Given the description of an element on the screen output the (x, y) to click on. 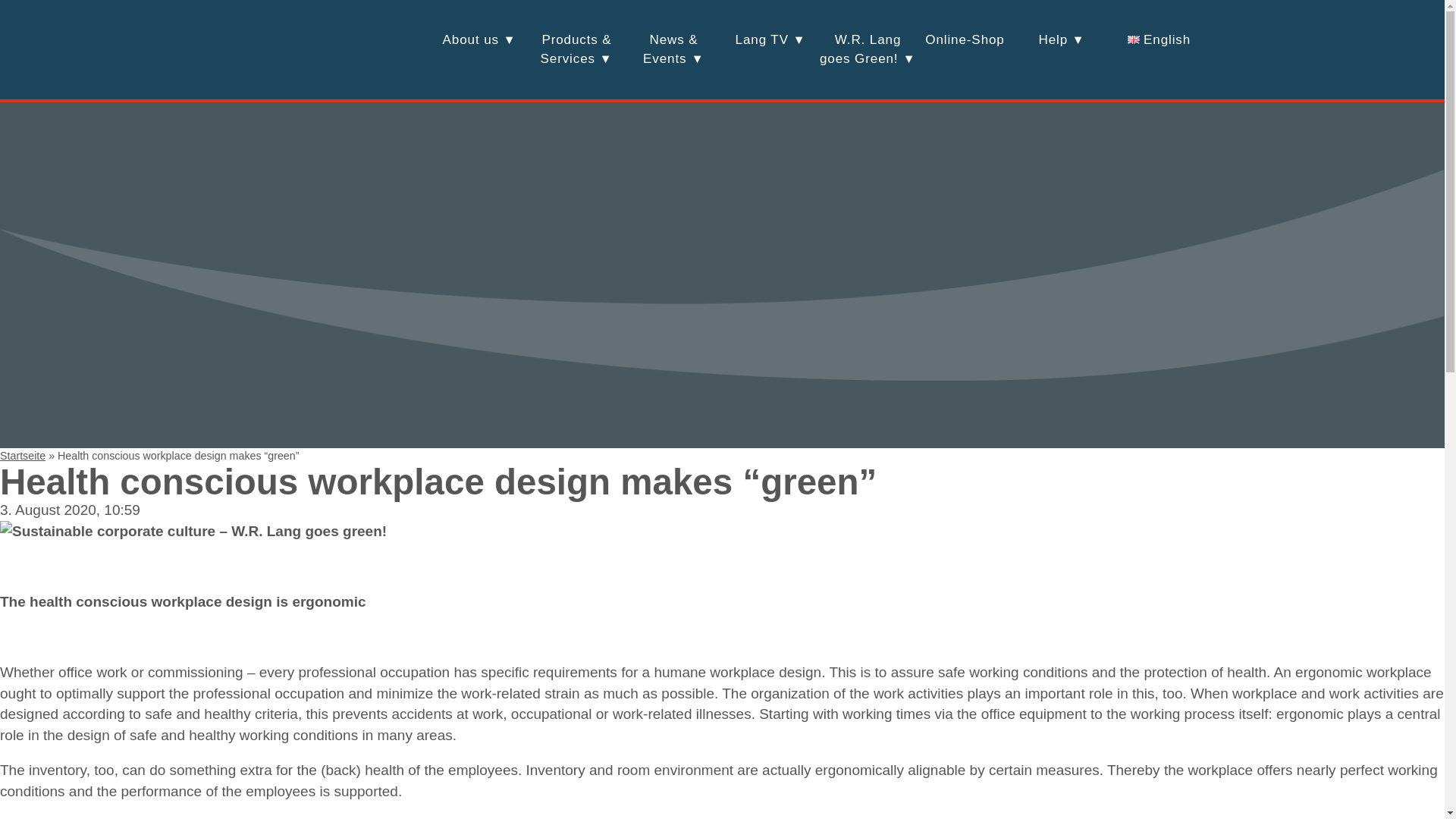
About us (478, 40)
English (1158, 40)
Help (1061, 40)
Startseite (22, 455)
Lang TV (770, 40)
Online-Shop (866, 49)
